Given the description of an element on the screen output the (x, y) to click on. 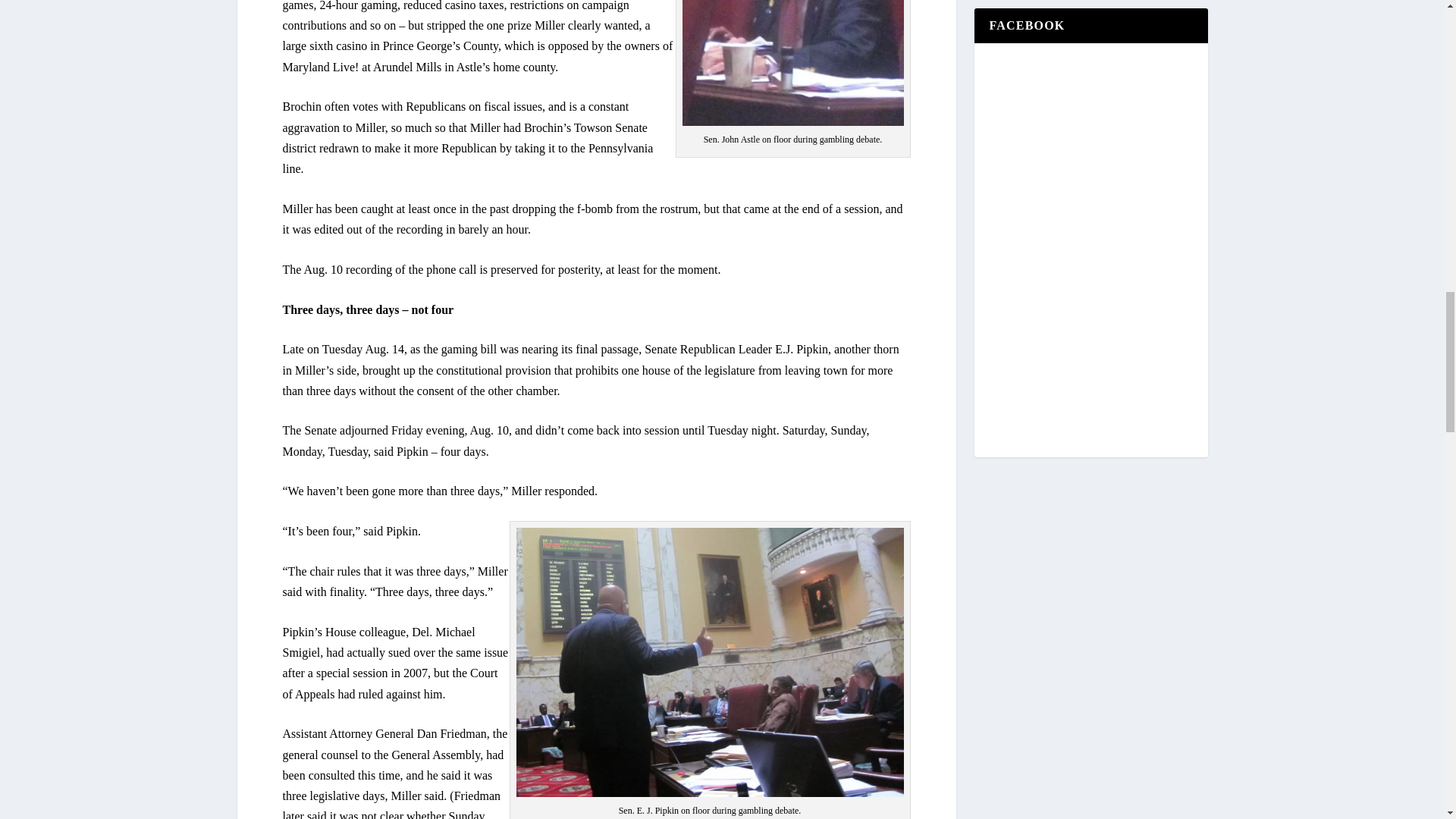
Pipkin on Senate floor (708, 661)
Astle gambling debate (793, 63)
